Given the description of an element on the screen output the (x, y) to click on. 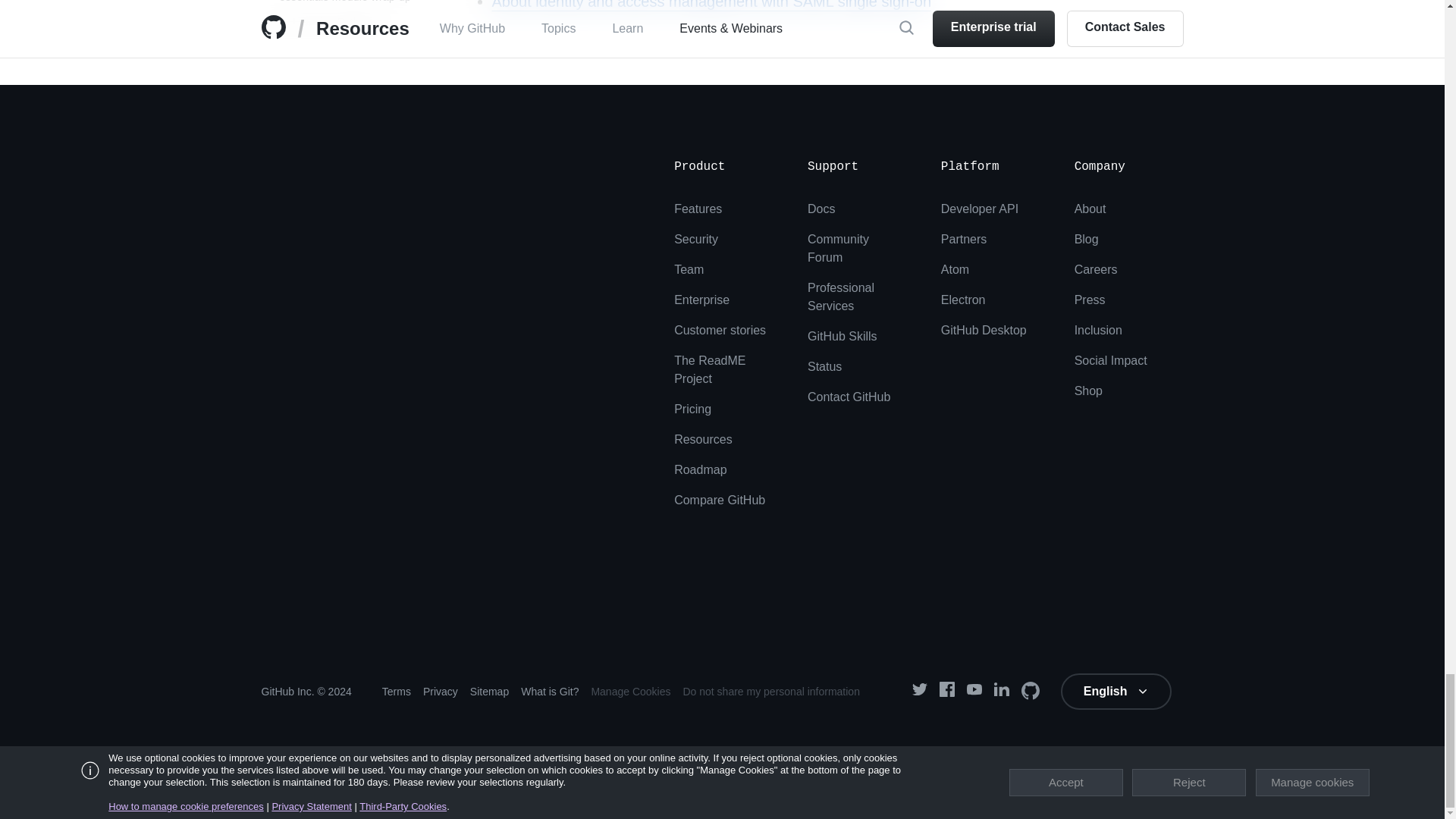
LinkedIn (1001, 691)
Twitter (919, 691)
YouTube (974, 691)
Facebook (946, 691)
GitHub (1028, 691)
